Given the description of an element on the screen output the (x, y) to click on. 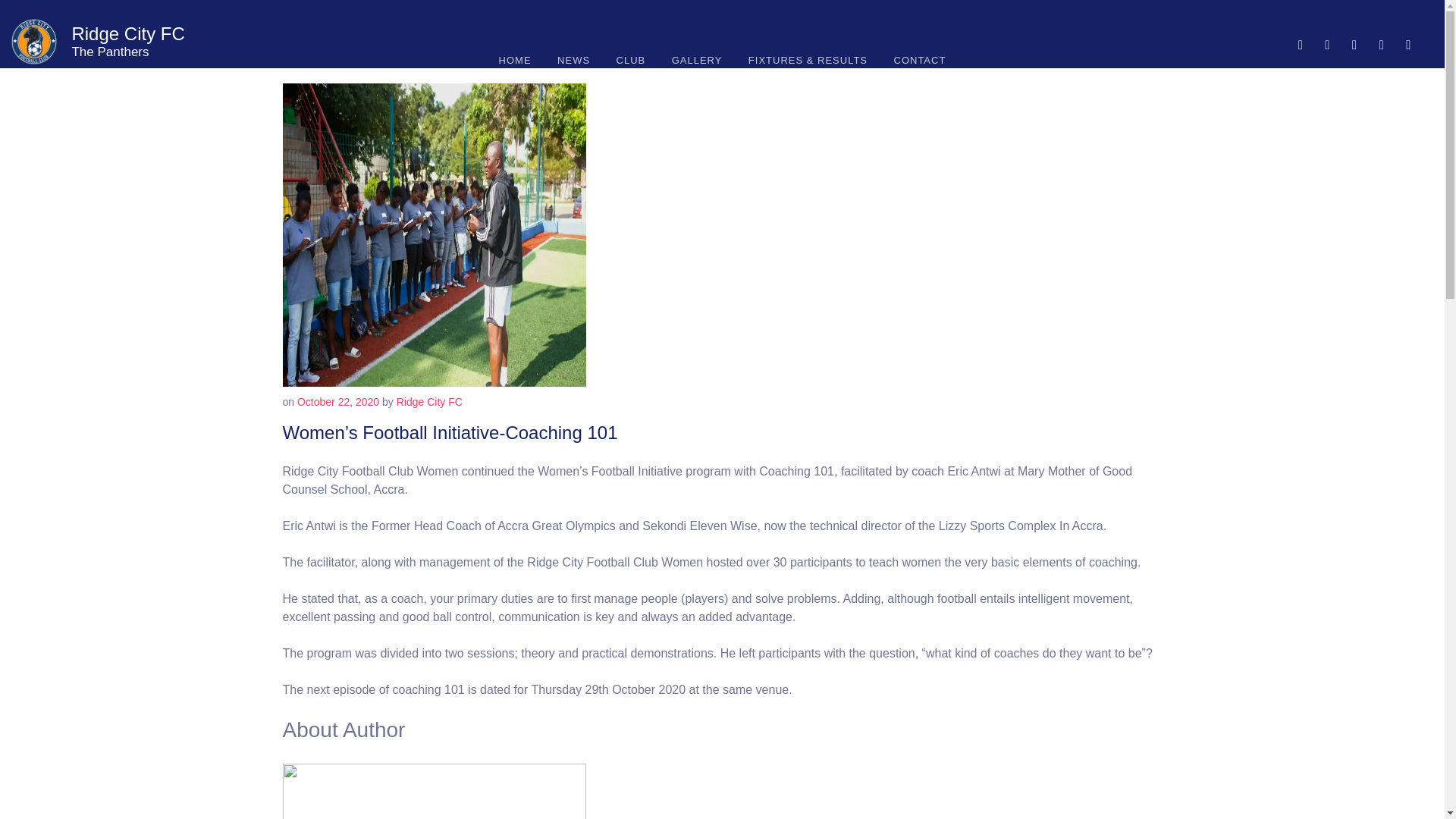
GALLERY (697, 60)
CONTACT (920, 60)
Ridge City FC (429, 401)
Ridge City FC (127, 33)
October 22, 2020 (337, 401)
